Given the description of an element on the screen output the (x, y) to click on. 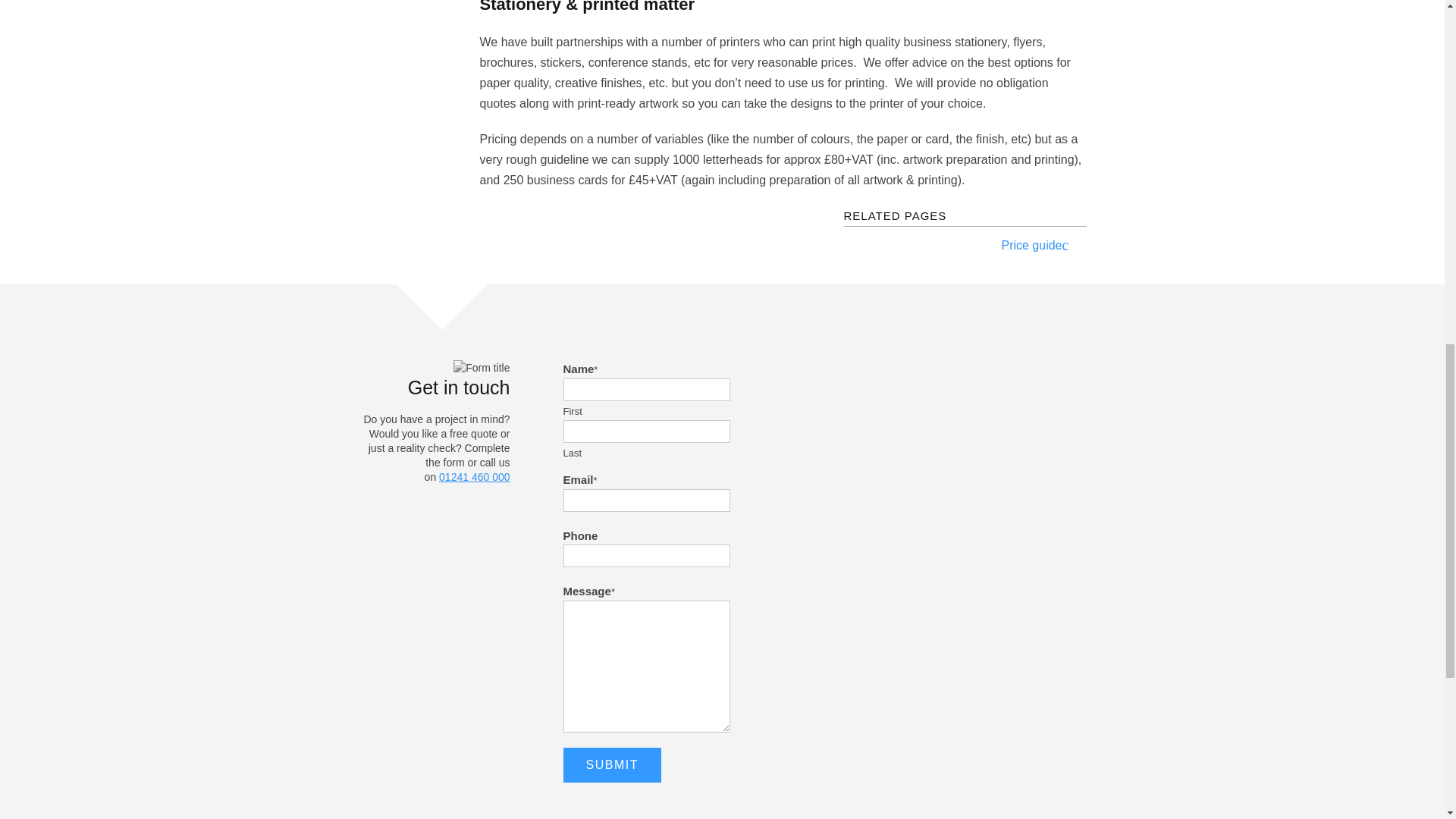
Submit (611, 764)
01241 460 000 (474, 476)
Submit (611, 764)
Price guide (952, 244)
